Given the description of an element on the screen output the (x, y) to click on. 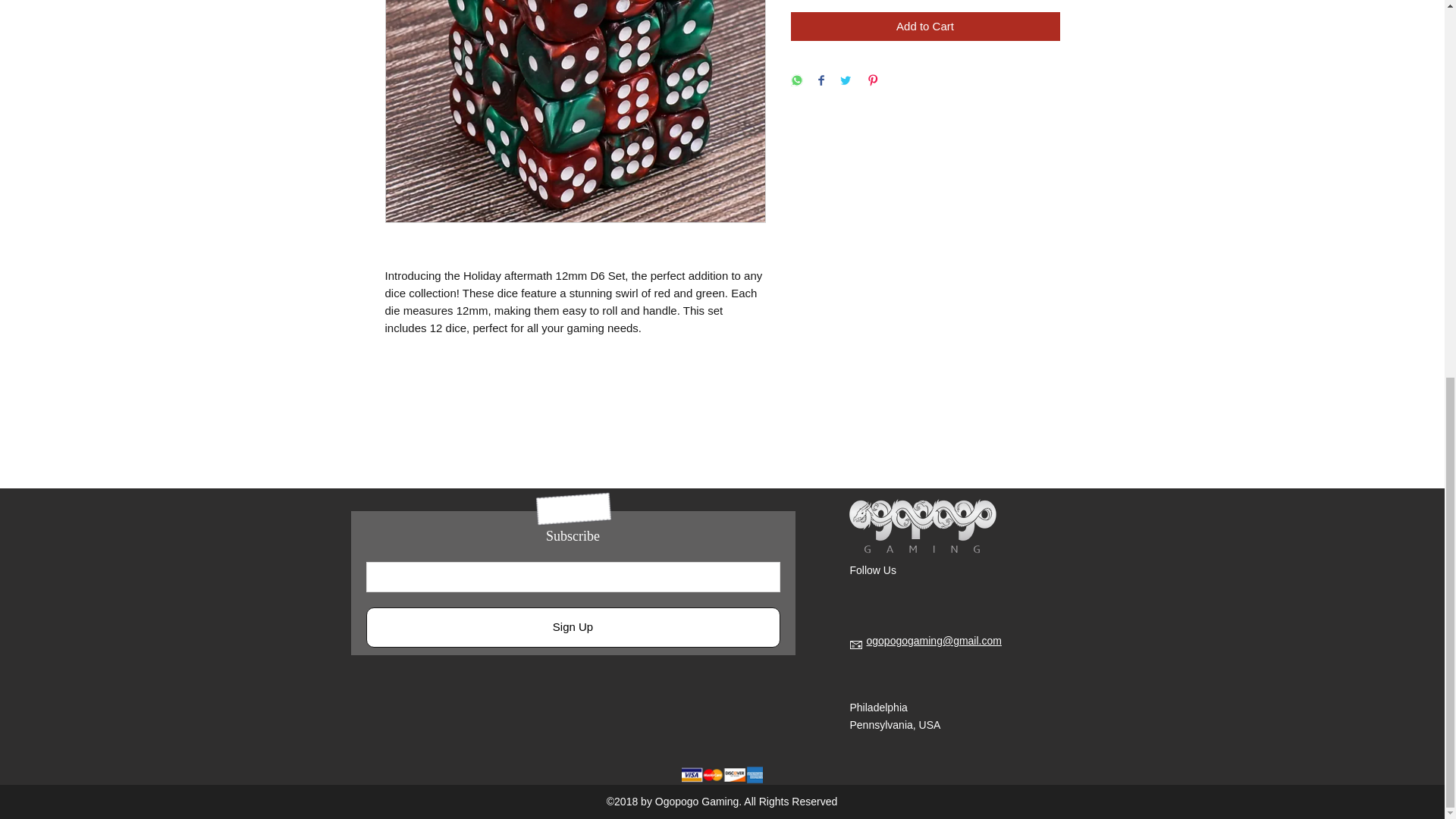
Sign Up (571, 627)
Add to Cart (924, 26)
